Given the description of an element on the screen output the (x, y) to click on. 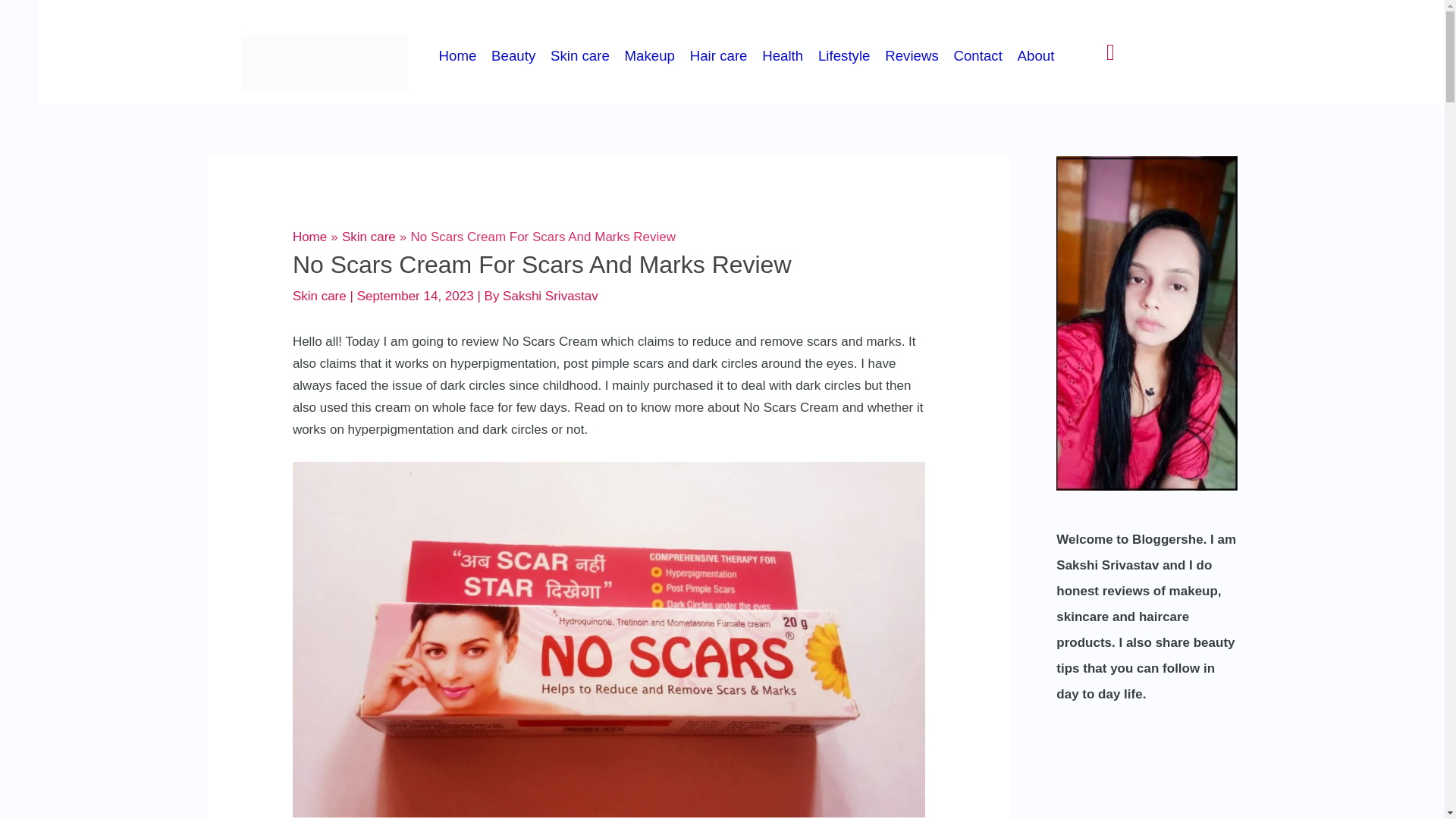
View all posts by Sakshi Srivastav (550, 296)
Hair care (724, 55)
Reviews (917, 55)
Health (788, 55)
Skin care (369, 237)
Contact (984, 55)
Home (309, 237)
Sakshi Srivastav (550, 296)
Search (1110, 52)
About (1042, 55)
Home (465, 55)
Skin care (587, 55)
Lifestyle (849, 55)
Makeup (656, 55)
Skin care (319, 296)
